Given the description of an element on the screen output the (x, y) to click on. 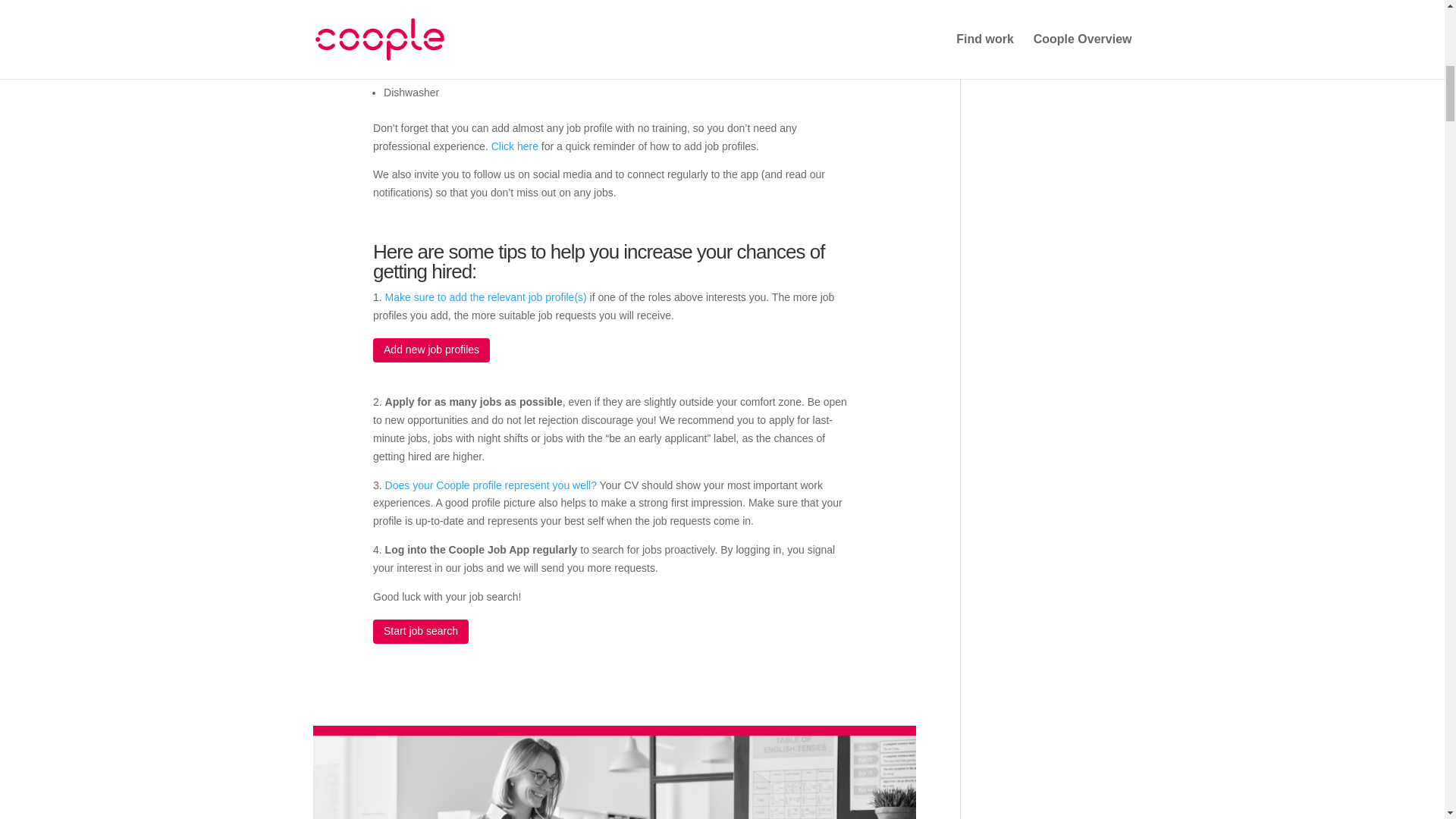
Does your Coople profile represent you well? (490, 485)
Start job search (420, 631)
Click here (515, 146)
Add new job profiles (430, 350)
